Given the description of an element on the screen output the (x, y) to click on. 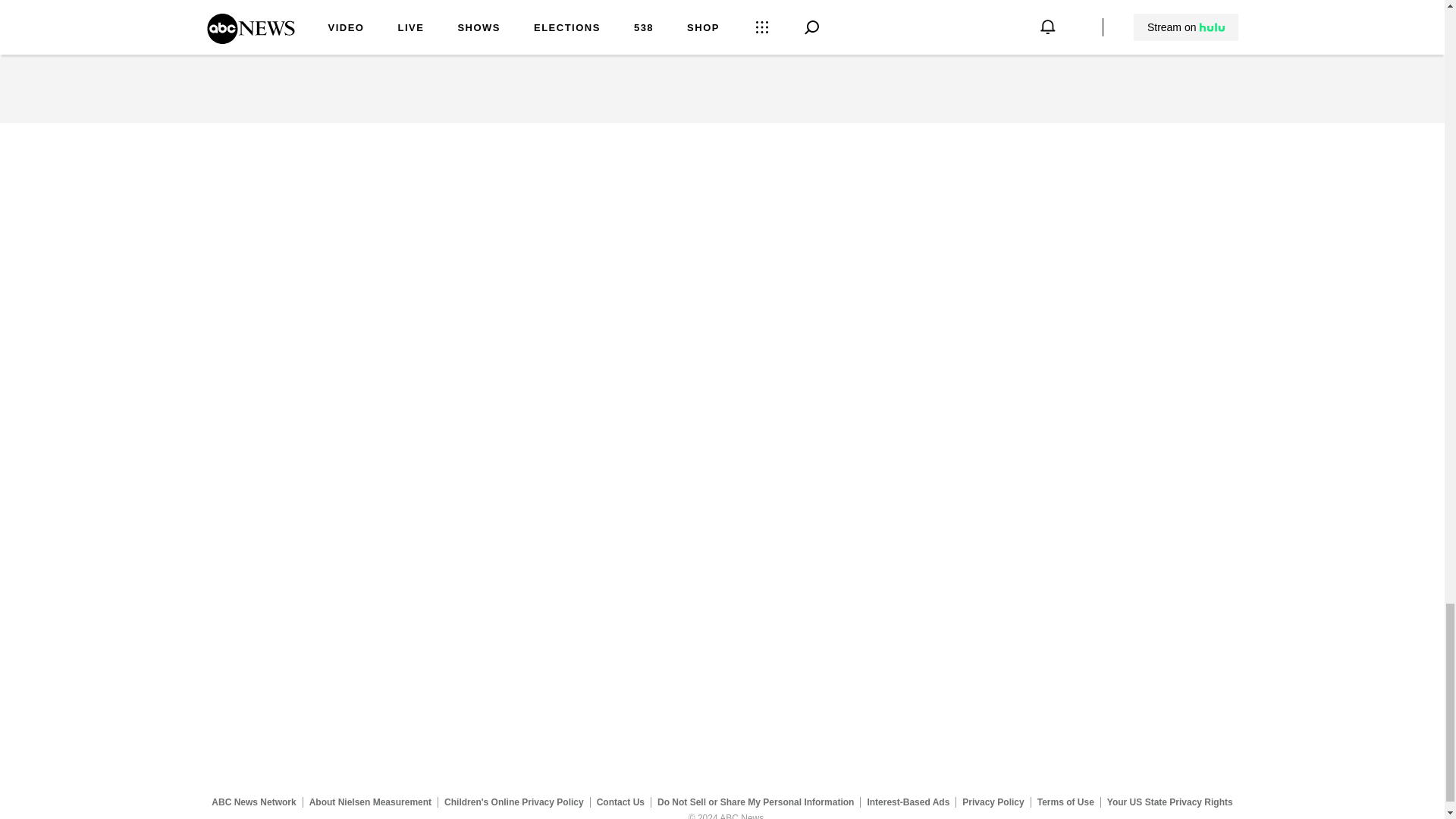
Your US State Privacy Rights (1169, 801)
Privacy Policy (993, 801)
Children's Online Privacy Policy (514, 801)
About Nielsen Measurement (370, 801)
Interest-Based Ads (908, 801)
Do Not Sell or Share My Personal Information (755, 801)
Contact Us (620, 801)
ABC News Network (253, 801)
Terms of Use (1065, 801)
